Given the description of an element on the screen output the (x, y) to click on. 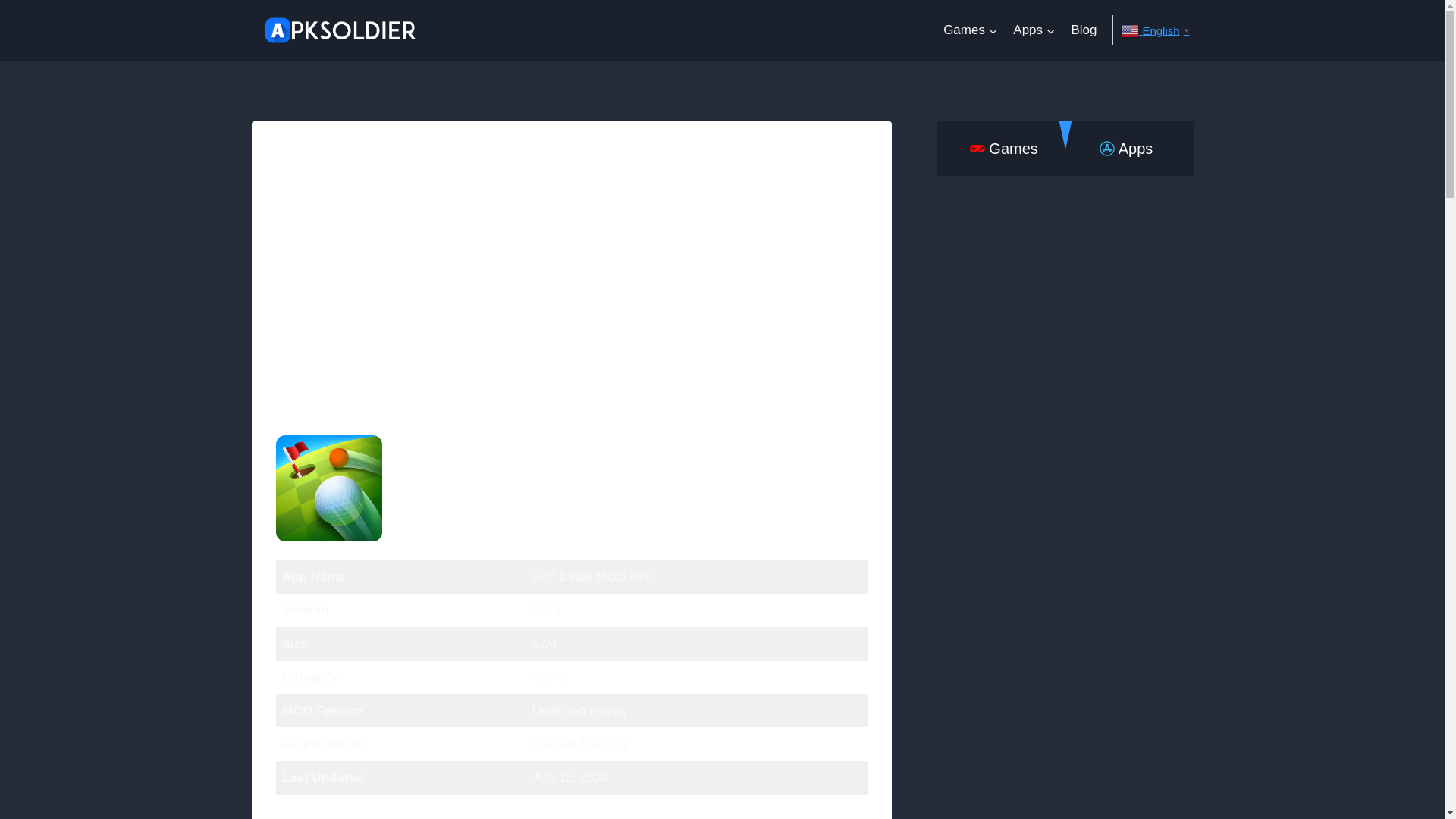
Games (971, 30)
Apps (1034, 30)
Blog (1082, 30)
